Given the description of an element on the screen output the (x, y) to click on. 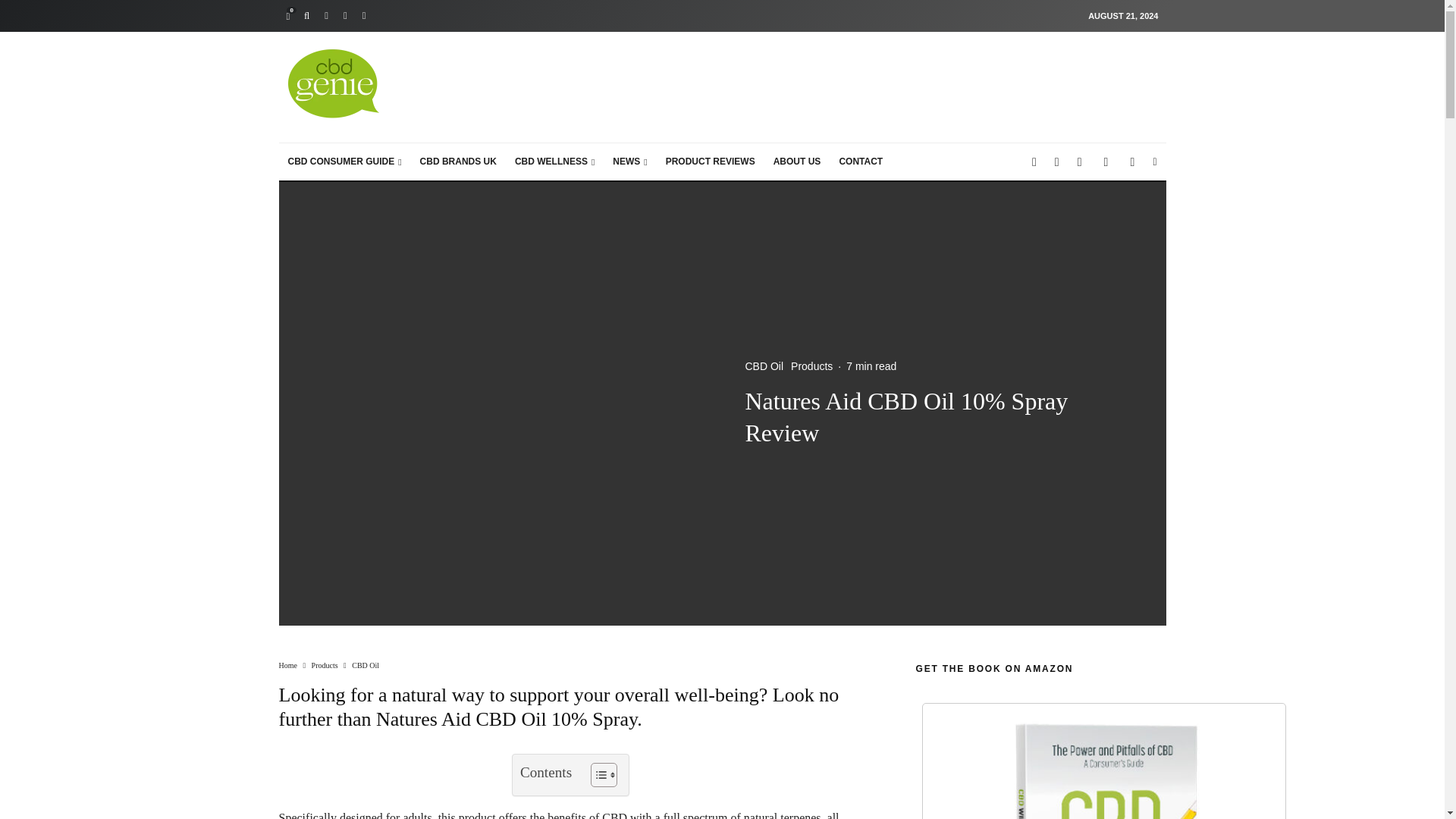
CBD WELLNESS (554, 161)
NEWS (630, 161)
CBD BRANDS UK (457, 161)
CBD CONSUMER GUIDE (344, 161)
